Given the description of an element on the screen output the (x, y) to click on. 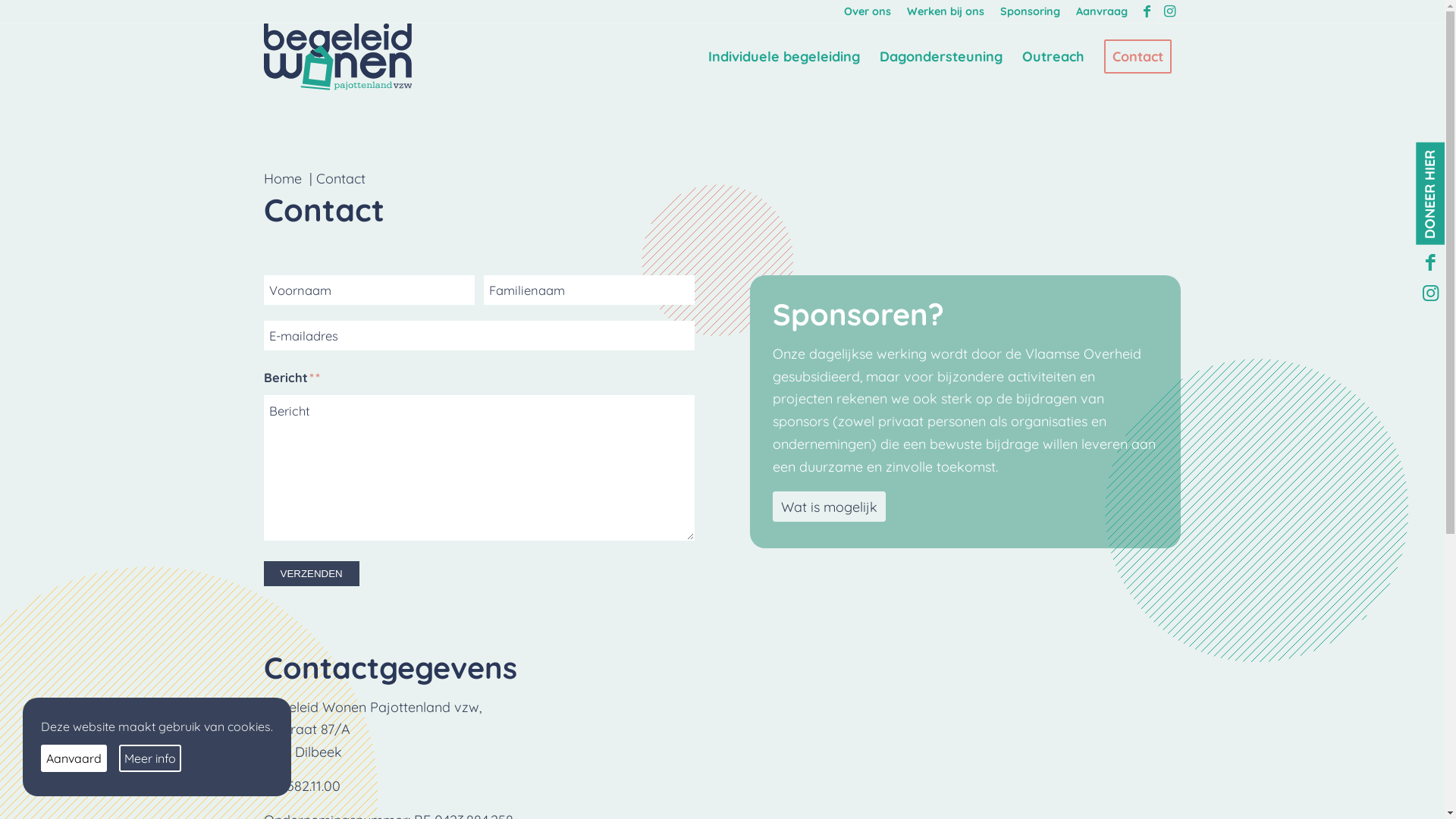
Facebook Element type: hover (1146, 11)
VERZENDEN Element type: text (311, 573)
Outreach Element type: text (1052, 56)
Instagram Element type: hover (1169, 11)
Aanvaard Element type: text (73, 757)
Individuele begeleiding Element type: text (783, 56)
Wat is mogelijk Element type: text (828, 506)
Home Element type: text (282, 178)
Facebook Element type: hover (1429, 263)
Instagram Element type: hover (1429, 294)
Meer info Element type: text (150, 757)
Dagondersteuning Element type: text (940, 56)
Contact Element type: text (1136, 56)
02/582.11.00 Element type: text (301, 785)
